Given the description of an element on the screen output the (x, y) to click on. 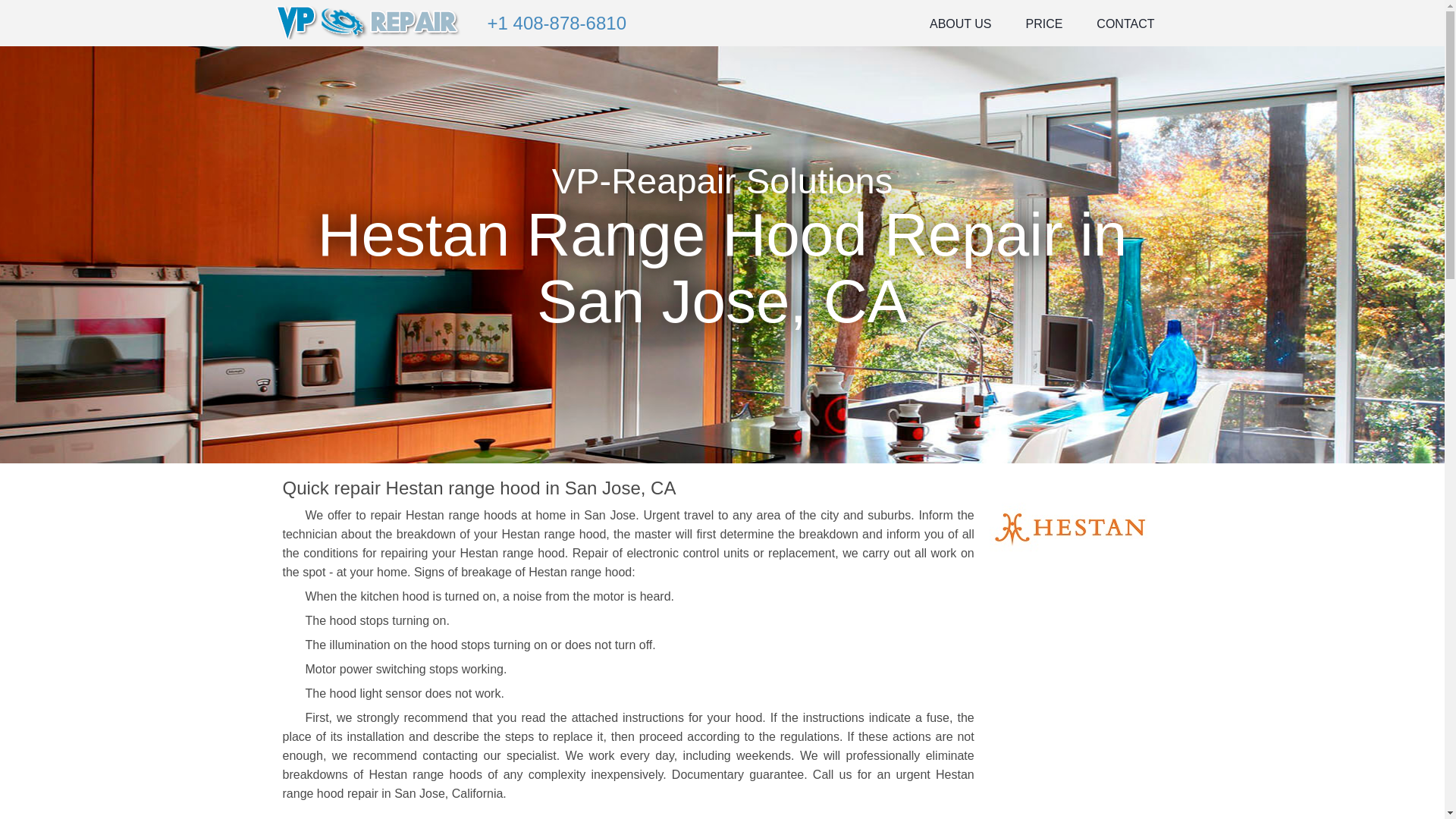
Hestan Range Hood Repair (1069, 528)
PRICE (1043, 19)
ABOUT US (959, 19)
VP-Repair (369, 20)
CONTACT (1125, 19)
